Given the description of an element on the screen output the (x, y) to click on. 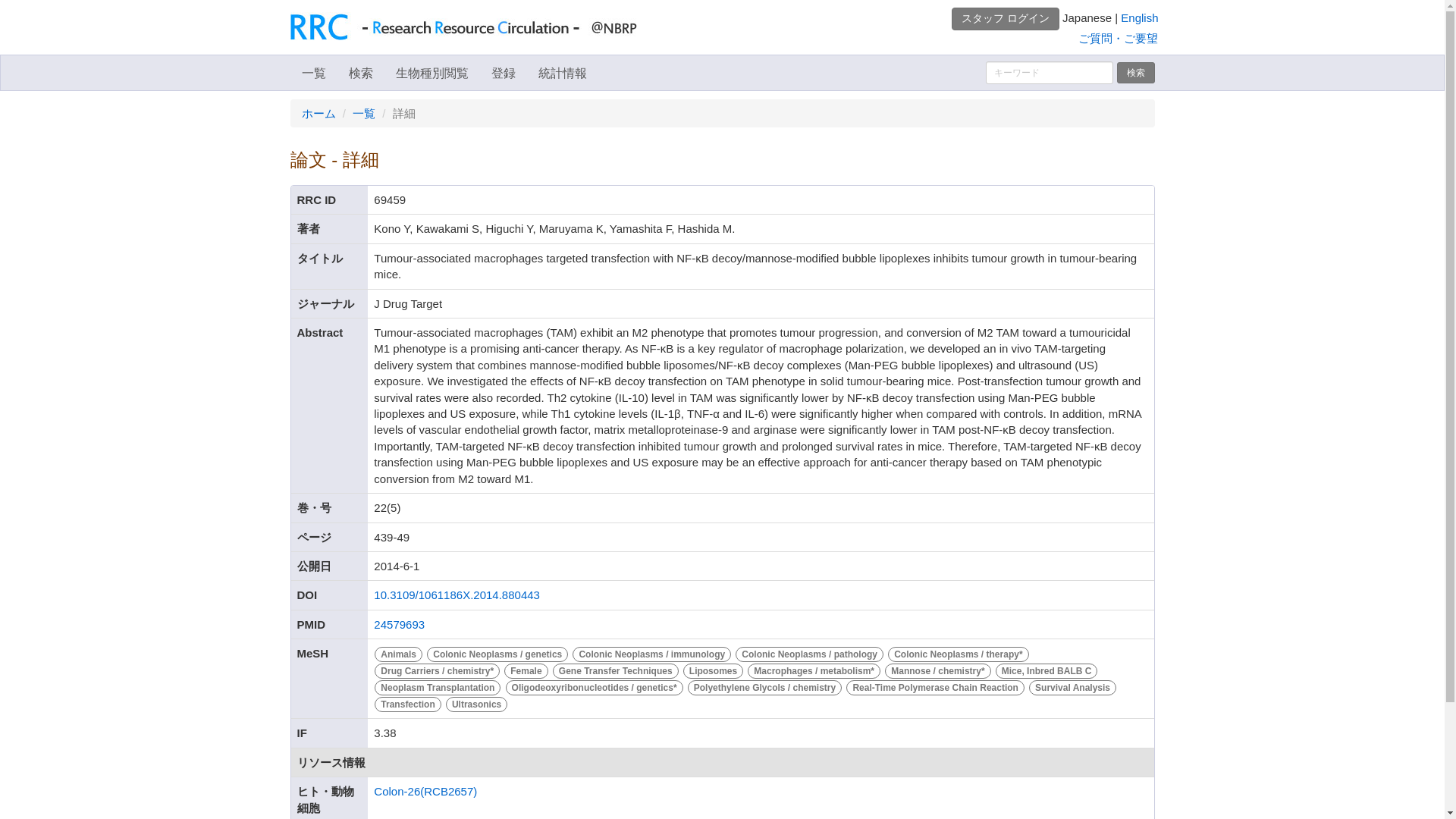
English (1139, 17)
Mice, Inbred BALB C (1046, 669)
Survival Analysis (1071, 686)
Liposomes (715, 669)
Animals (400, 653)
Transfection (409, 703)
Gene Transfer Techniques (616, 669)
Real-Time Polymerase Chain Reaction (936, 686)
Neoplasm Transplantation (438, 686)
24579693 (399, 624)
Female (527, 669)
Ultrasonics (476, 703)
